Given the description of an element on the screen output the (x, y) to click on. 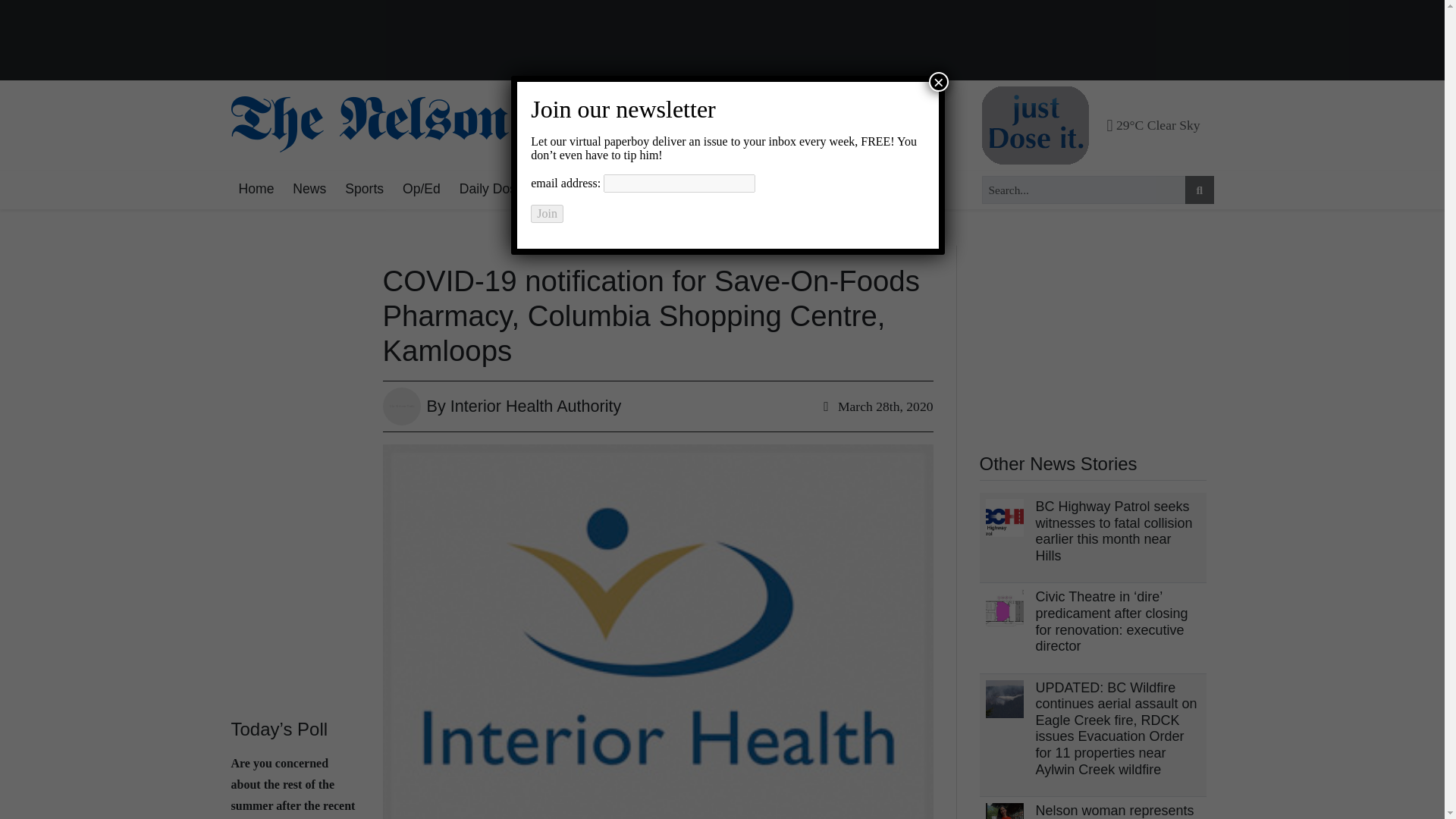
3rd party ad content (1093, 339)
Arts and Culture (590, 189)
Obits (806, 189)
News (309, 189)
Daily Dose (491, 189)
3rd party ad content (721, 41)
Home (255, 189)
Sports (364, 189)
Events (750, 189)
Business (684, 189)
Join (547, 213)
